Given the description of an element on the screen output the (x, y) to click on. 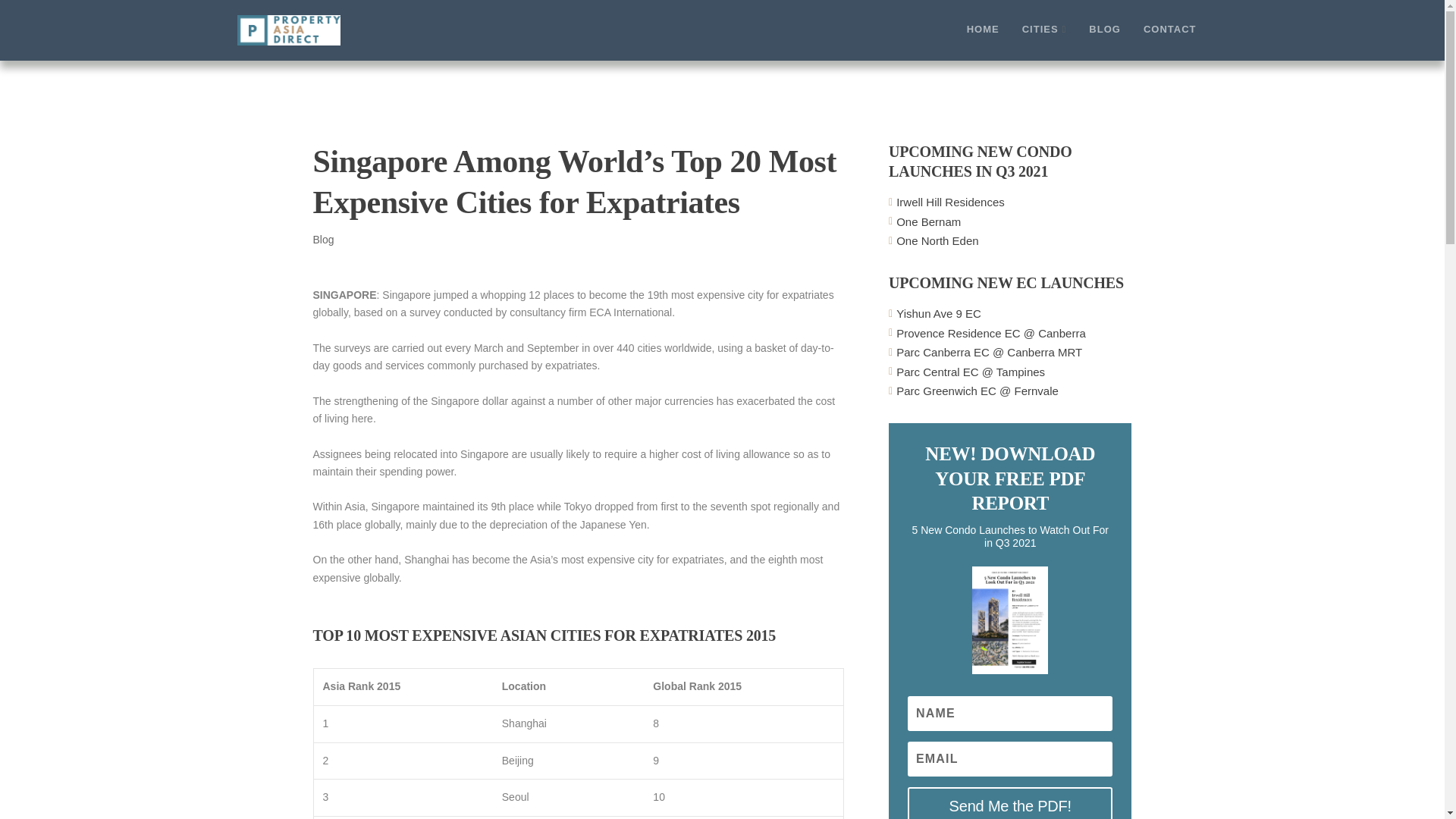
CONTACT (1169, 41)
BLOG (1105, 41)
Send Me the PDF! (1009, 803)
CITIES (1044, 41)
HOME (982, 41)
Blog (323, 239)
